Given the description of an element on the screen output the (x, y) to click on. 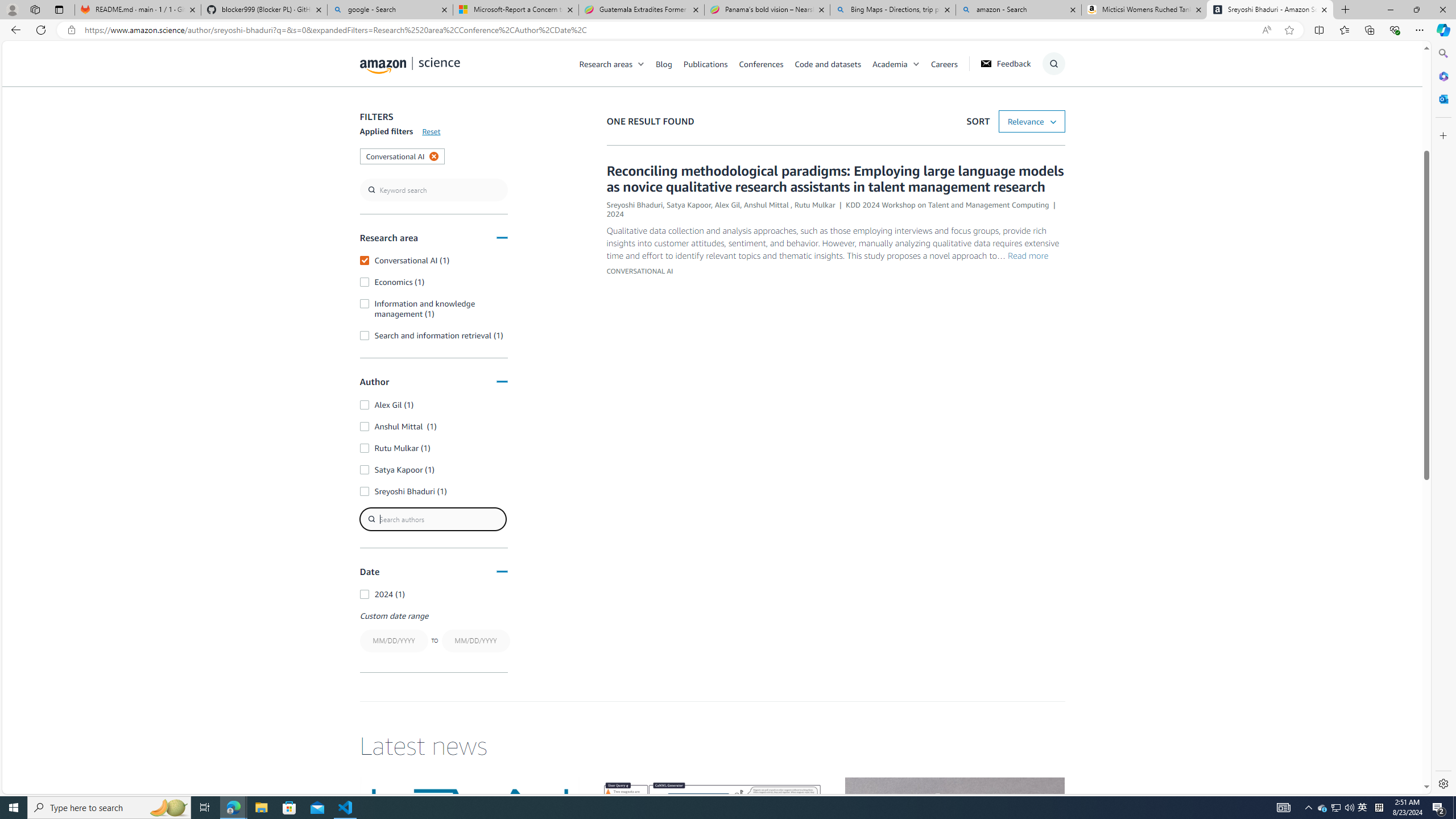
Satya Kapoor (688, 204)
Careers (949, 63)
Read more (1027, 255)
Reset (431, 131)
Blog (669, 63)
Search authors (432, 518)
